Given the description of an element on the screen output the (x, y) to click on. 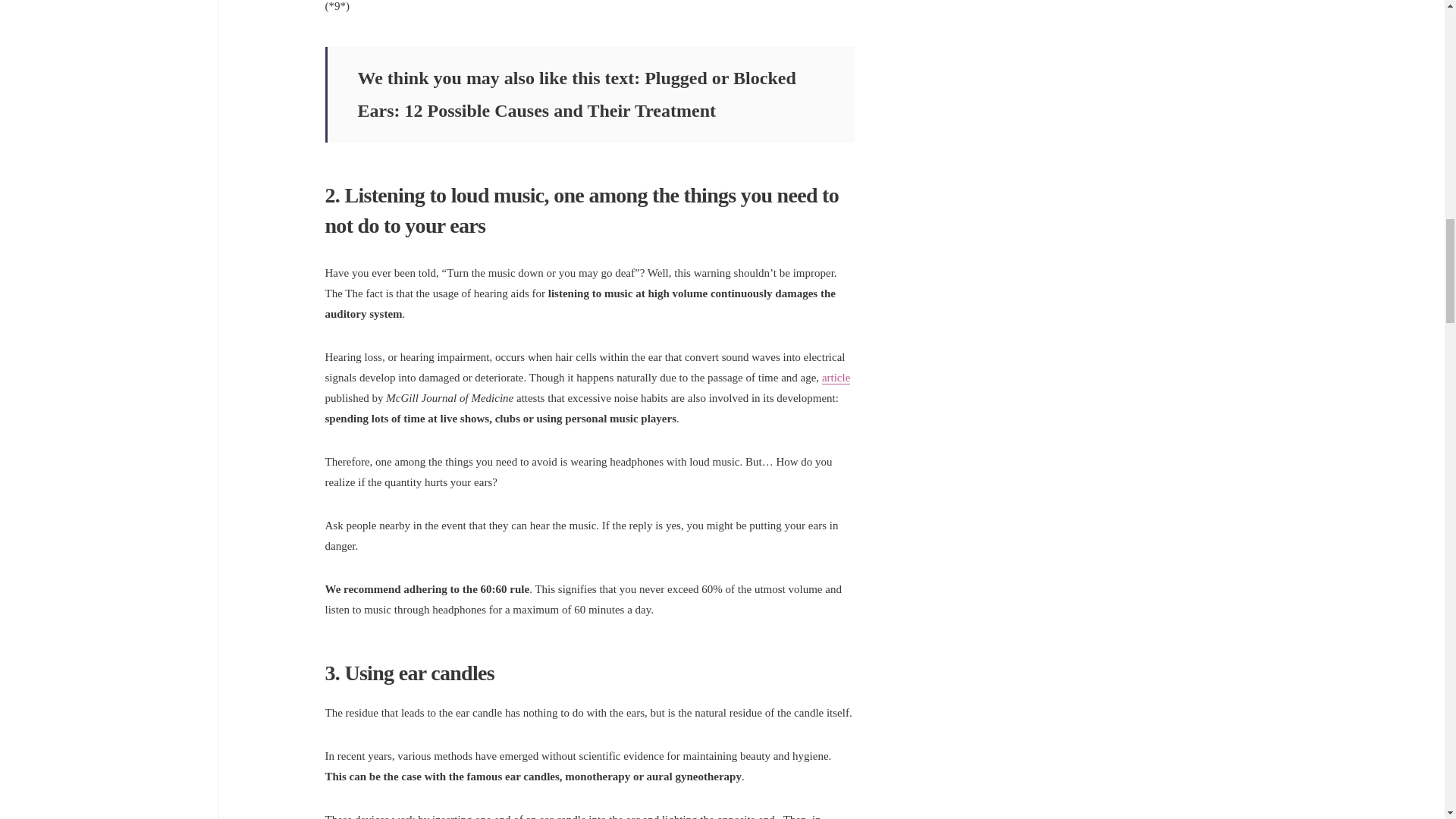
article (836, 377)
